Given the description of an element on the screen output the (x, y) to click on. 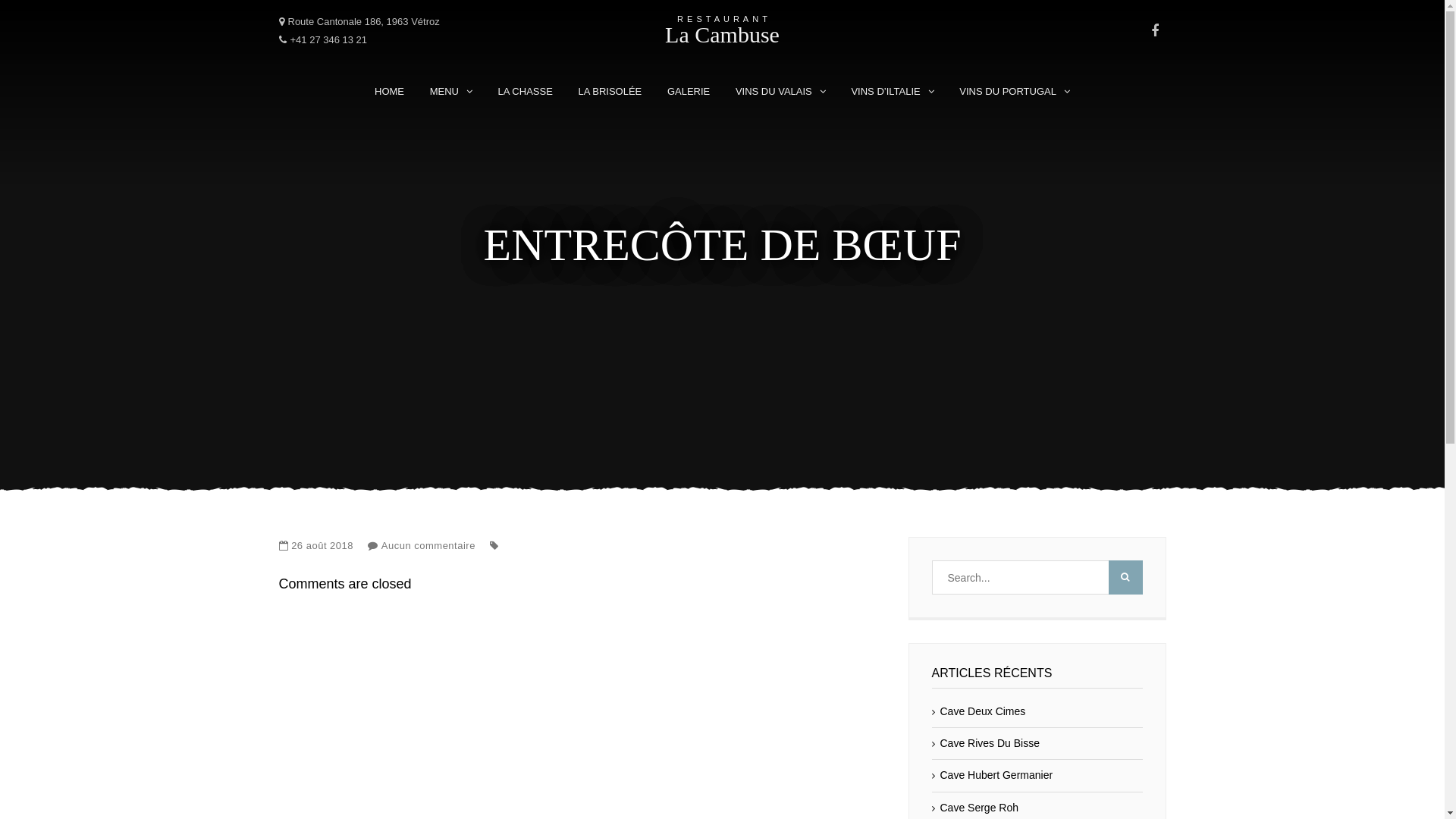
HOME Element type: text (389, 91)
RESTAURANT
La Cambuse Element type: text (722, 30)
Cave Hubert Germanier Element type: text (991, 774)
LA CHASSE Element type: text (525, 91)
VINS DU VALAIS Element type: text (780, 91)
VINS DU PORTUGAL Element type: text (1014, 91)
MENU Element type: text (450, 91)
GALERIE Element type: text (688, 91)
Aucun commentaire Element type: text (428, 545)
Cave Rives Du Bisse Element type: text (985, 743)
Cave Deux Cimes Element type: text (978, 711)
